Given the description of an element on the screen output the (x, y) to click on. 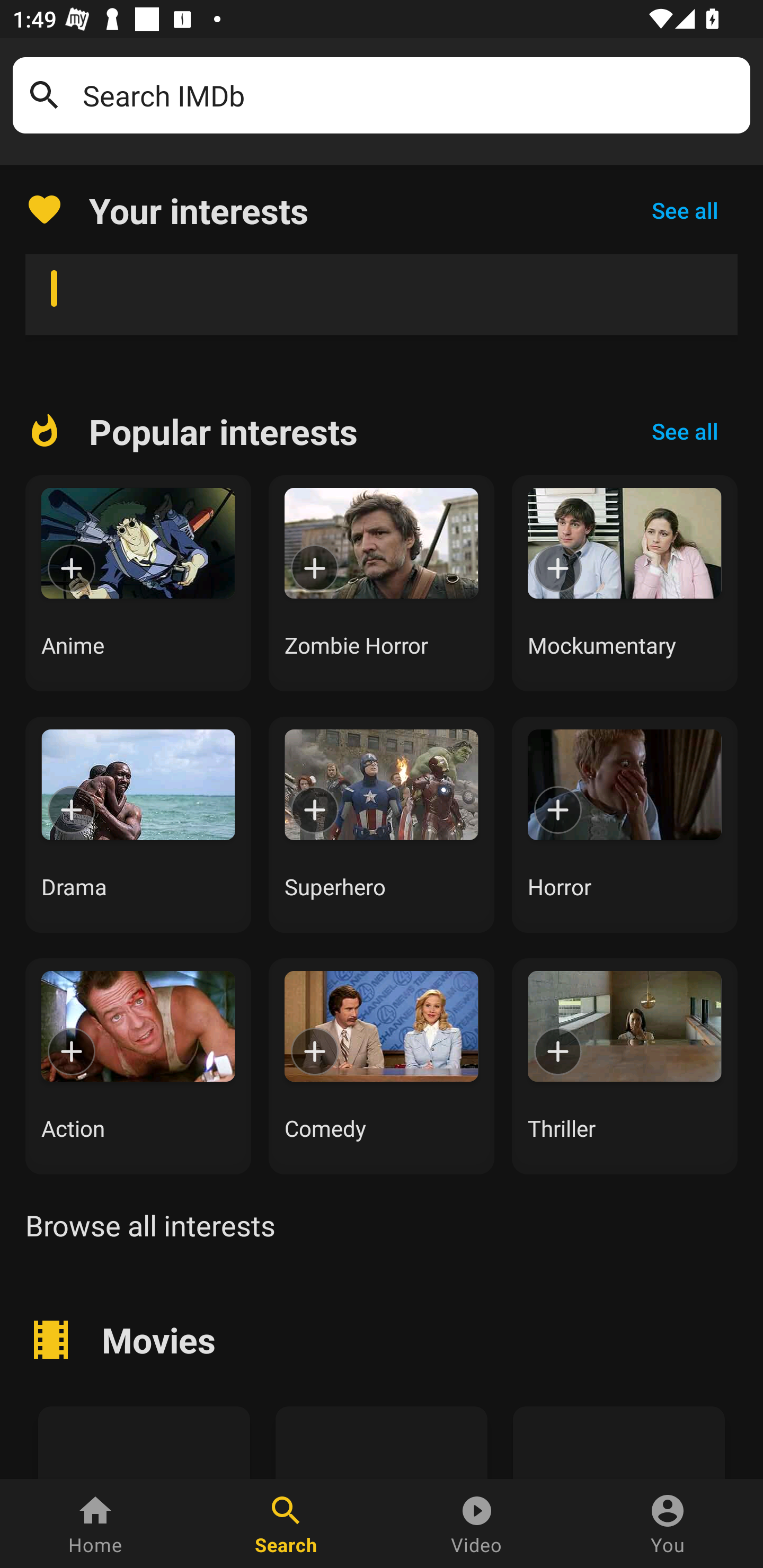
Search IMDb (410, 95)
See all (684, 209)
See all (684, 430)
Anime (138, 583)
Zombie Horror (381, 583)
Mockumentary (624, 583)
Drama (138, 824)
Superhero (381, 824)
Horror (624, 824)
Action (138, 1065)
Comedy (381, 1065)
Thriller (624, 1065)
Browse all interests (150, 1224)
Home (95, 1523)
Video (476, 1523)
You (667, 1523)
